Given the description of an element on the screen output the (x, y) to click on. 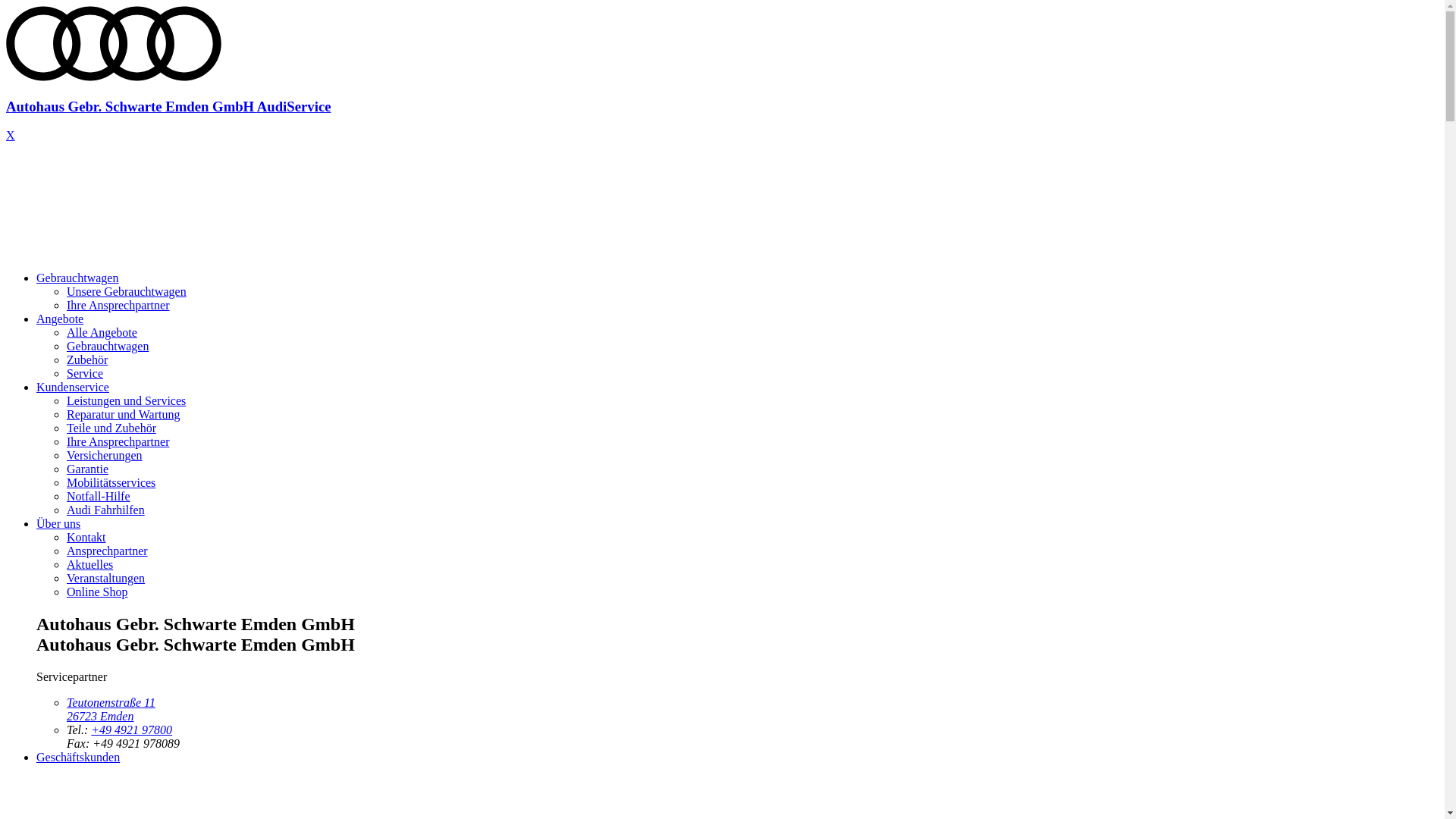
Ihre Ansprechpartner Element type: text (117, 441)
Gebrauchtwagen Element type: text (107, 345)
Alle Angebote Element type: text (101, 332)
Leistungen und Services Element type: text (125, 400)
Ihre Ansprechpartner Element type: text (117, 304)
X Element type: text (10, 134)
Garantie Element type: text (87, 468)
Audi Fahrhilfen Element type: text (105, 509)
Versicherungen Element type: text (104, 454)
Kontakt Element type: text (86, 536)
Ansprechpartner Element type: text (106, 550)
Aktuelles Element type: text (89, 564)
+49 4921 97800 Element type: text (131, 729)
Unsere Gebrauchtwagen Element type: text (126, 291)
Gebrauchtwagen Element type: text (77, 277)
Veranstaltungen Element type: text (105, 577)
Angebote Element type: text (59, 318)
Notfall-Hilfe Element type: text (98, 495)
Reparatur und Wartung Element type: text (122, 413)
Online Shop Element type: text (96, 591)
Service Element type: text (84, 373)
Kundenservice Element type: text (72, 386)
Autohaus Gebr. Schwarte Emden GmbH AudiService Element type: text (722, 92)
